Given the description of an element on the screen output the (x, y) to click on. 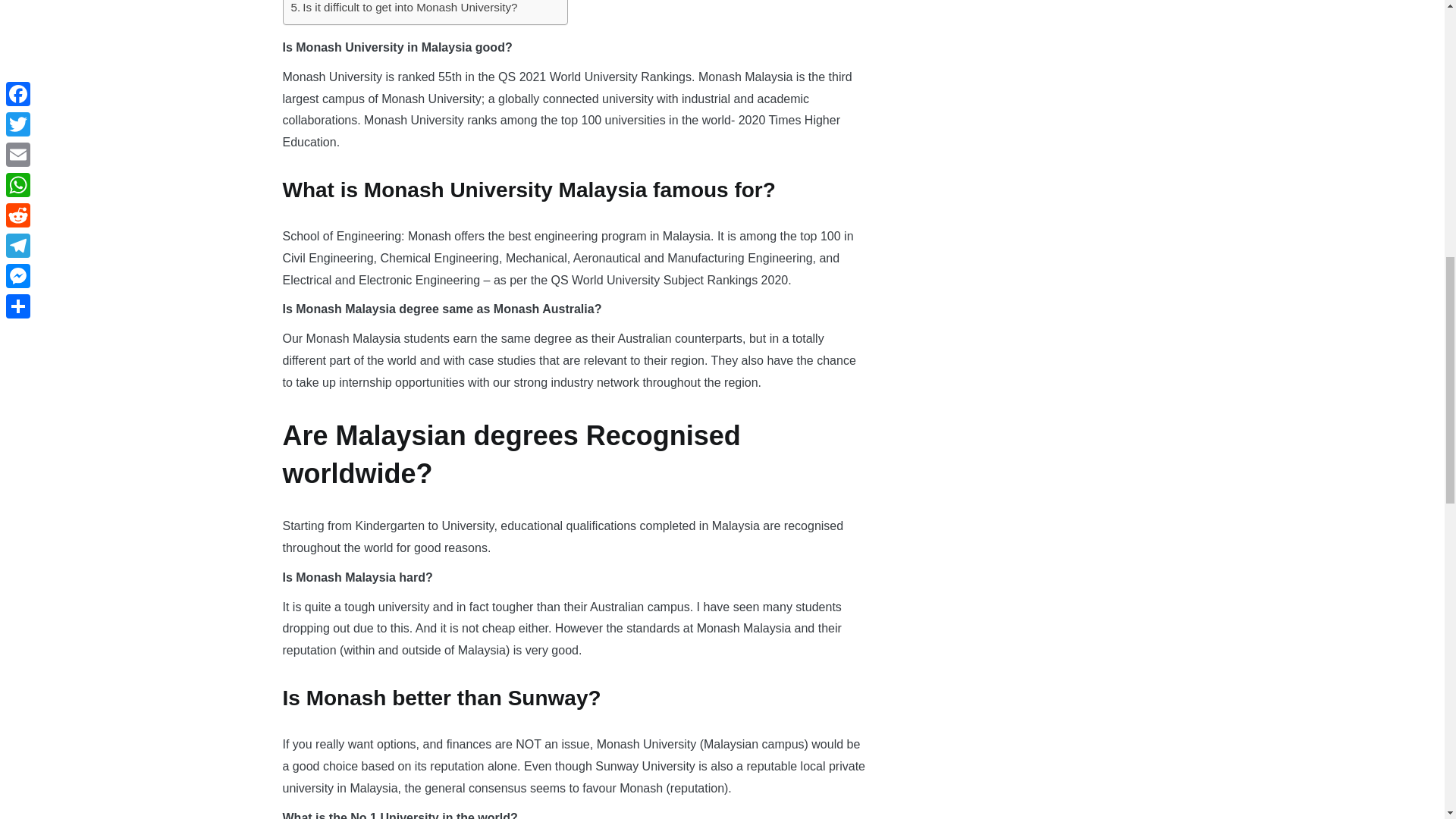
Is it difficult to get into Monash University? (404, 8)
Is it difficult to get into Monash University? (404, 8)
